Given the description of an element on the screen output the (x, y) to click on. 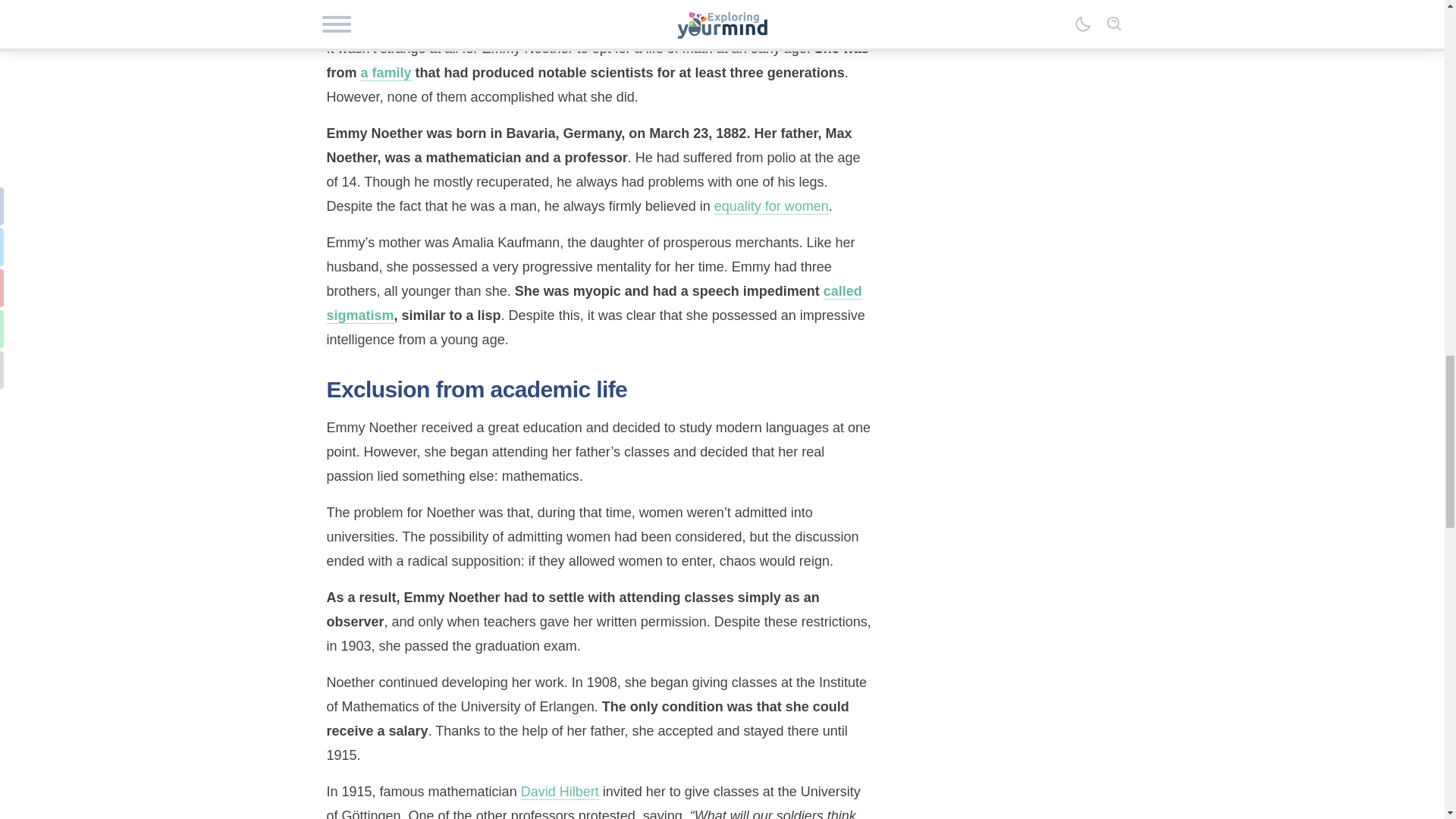
David Hilbert (559, 791)
a family (386, 73)
called sigmatism (593, 303)
equality for women (771, 206)
